Given the description of an element on the screen output the (x, y) to click on. 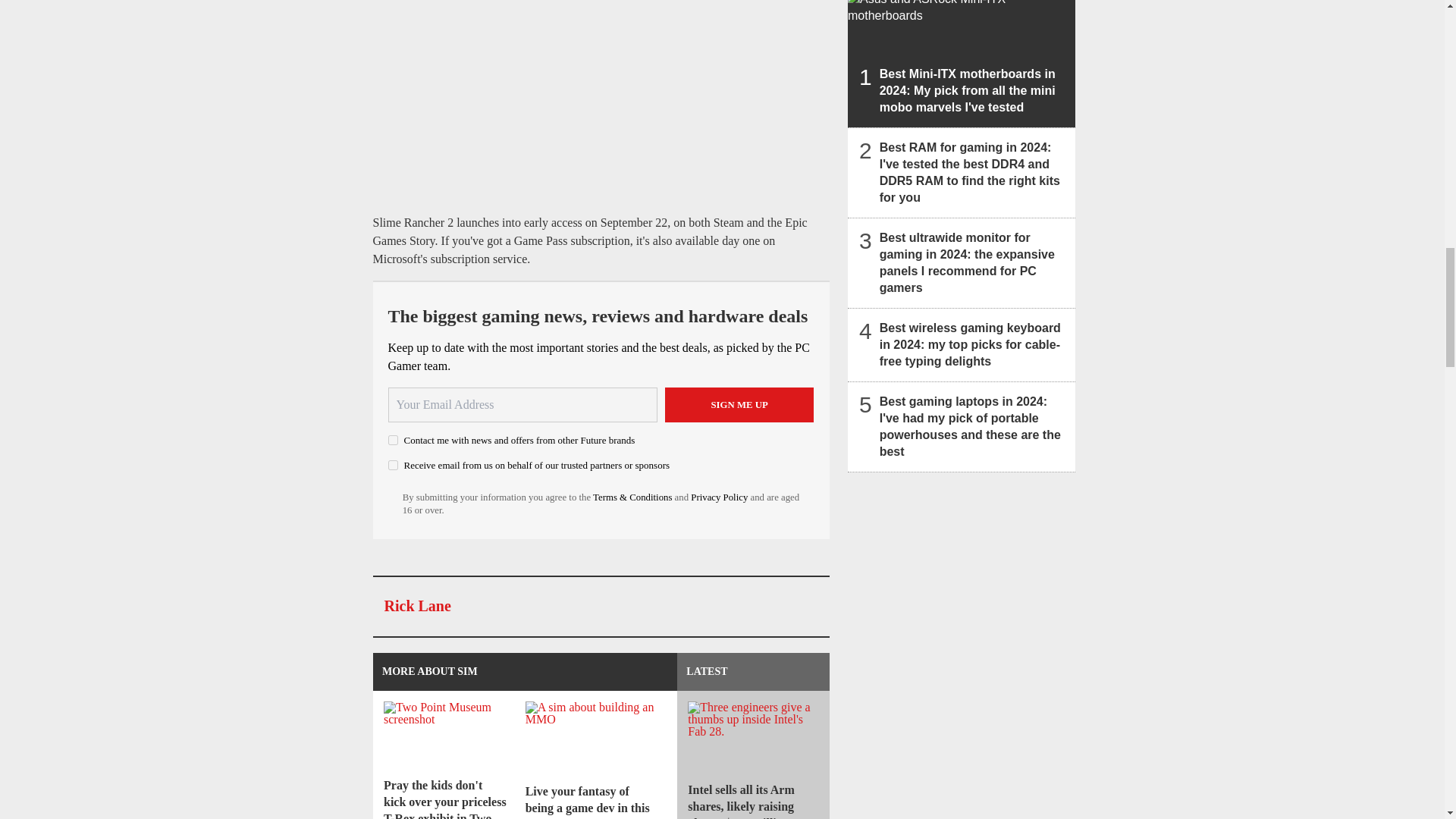
on (392, 439)
Sign me up (739, 404)
on (392, 465)
